Given the description of an element on the screen output the (x, y) to click on. 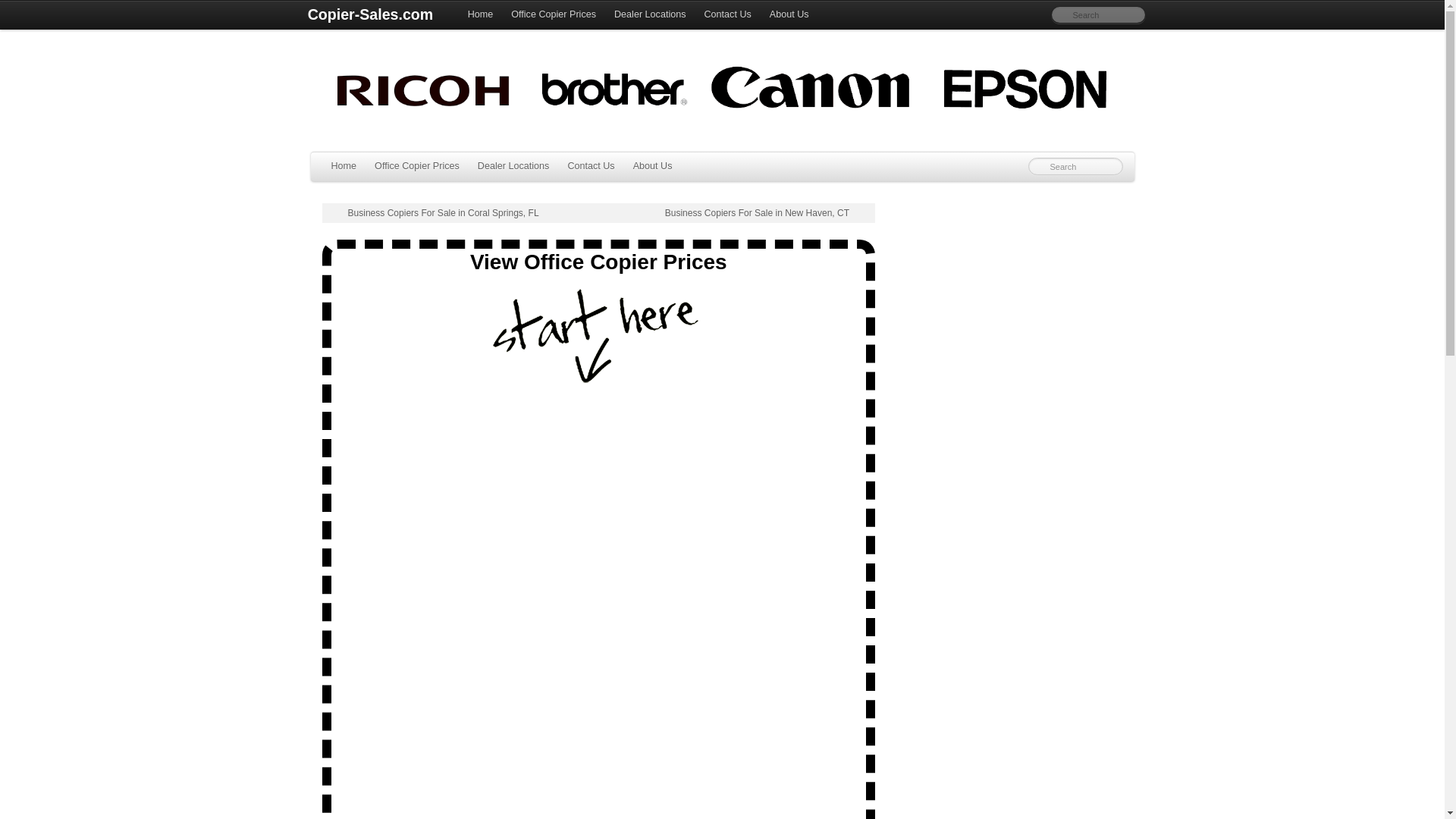
Dealer Locations (650, 14)
About Us (789, 14)
Home (343, 166)
Dealer Locations (513, 166)
Home (480, 14)
Copier-Sales.com (369, 14)
Contact Us (727, 14)
Office Copier Prices (416, 166)
Office Copier Prices (553, 14)
